Given the description of an element on the screen output the (x, y) to click on. 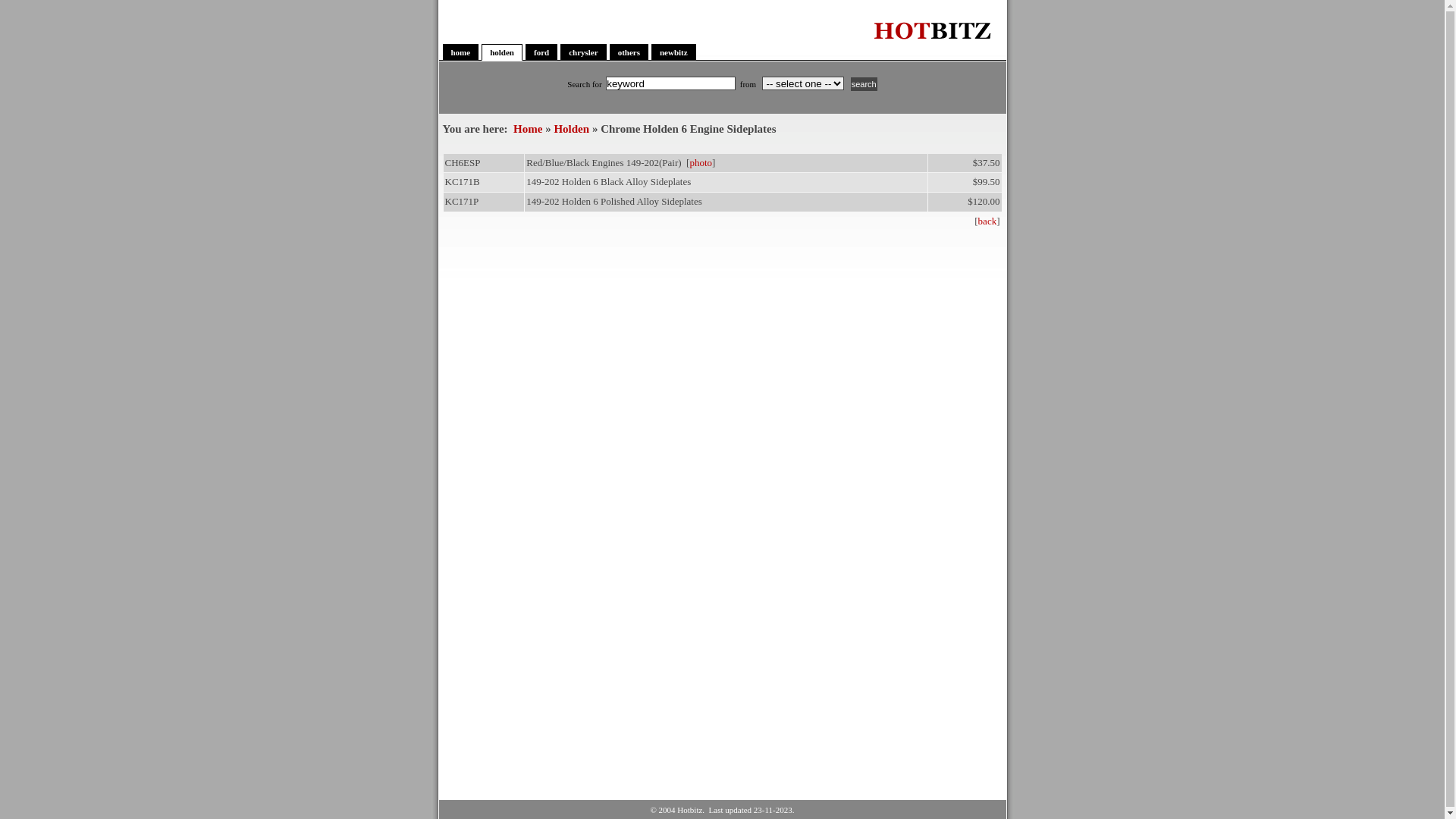
ford Element type: text (541, 51)
Home Element type: text (527, 128)
home Element type: text (460, 51)
photo Element type: text (700, 162)
chrysler Element type: text (582, 51)
back Element type: text (987, 220)
others Element type: text (628, 51)
search Element type: text (863, 84)
newbitz Element type: text (673, 51)
Holden Element type: text (571, 128)
holden Element type: text (501, 51)
